Given the description of an element on the screen output the (x, y) to click on. 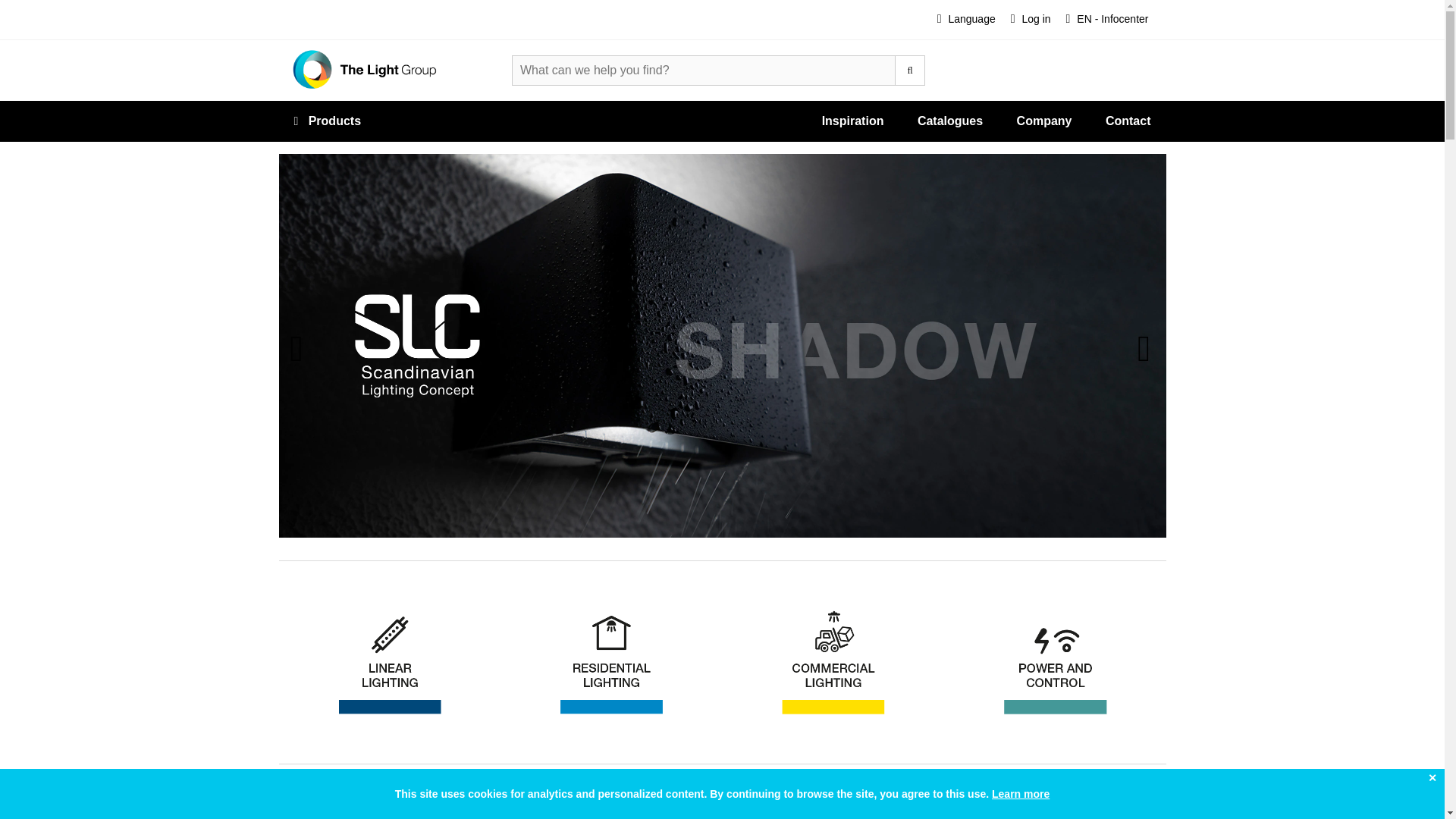
Language (966, 19)
EN - Infocenter (1106, 19)
   Products (328, 120)
Language (966, 19)
EN - Infocenter (1106, 19)
Log in (1030, 19)
catalogues (139, 345)
Log in (1030, 19)
